Given the description of an element on the screen output the (x, y) to click on. 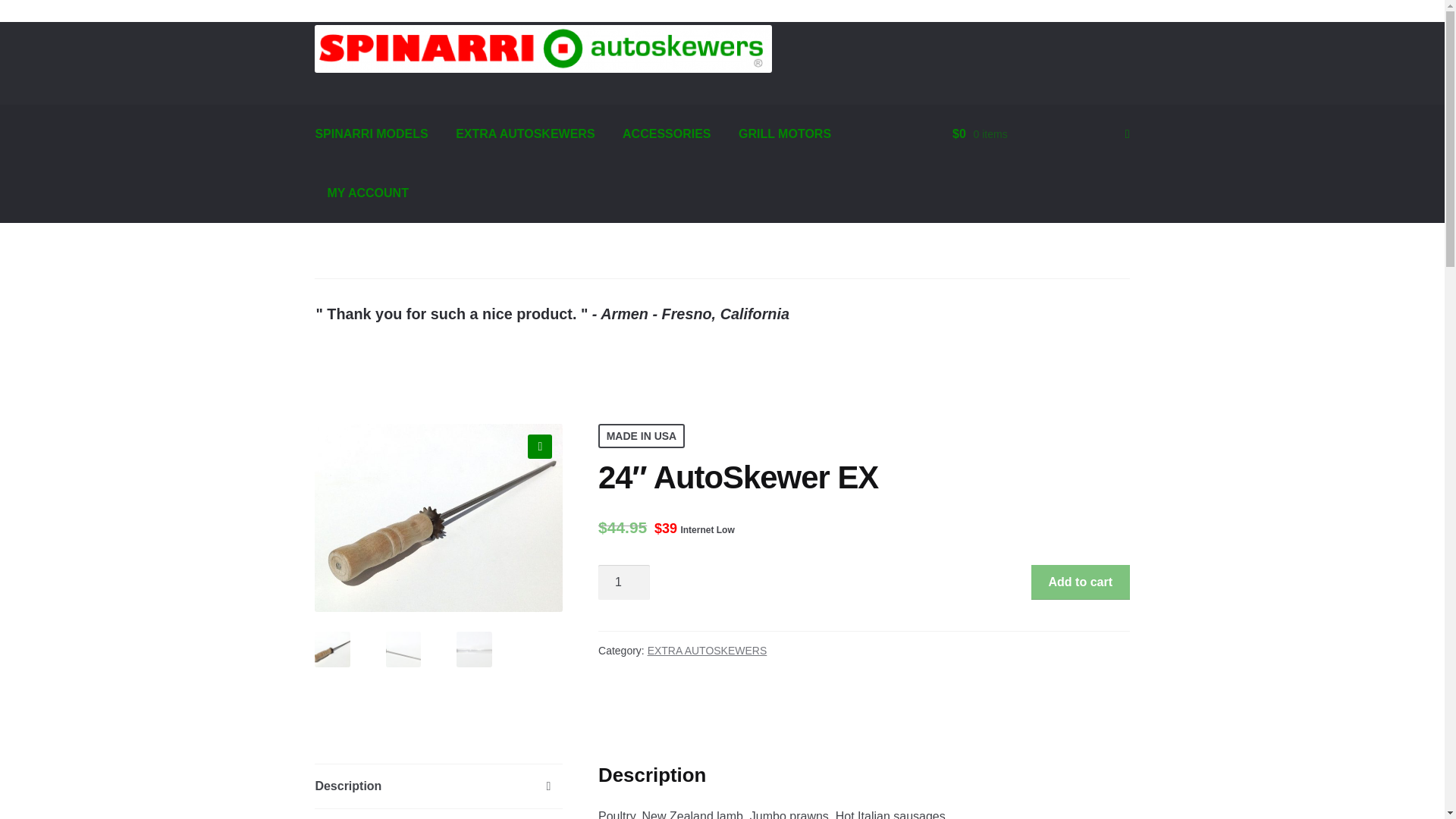
GRILL MOTORS (784, 133)
EXTRA AUTOSKEWERS (707, 650)
ACCESSORIES (666, 133)
View your shopping cart (1040, 133)
1 (623, 582)
Description (438, 786)
Add to cart (1079, 582)
EXTRA AUTOSKEWERS (525, 133)
MY ACCOUNT (367, 192)
SPINARRI MODELS (370, 133)
